Given the description of an element on the screen output the (x, y) to click on. 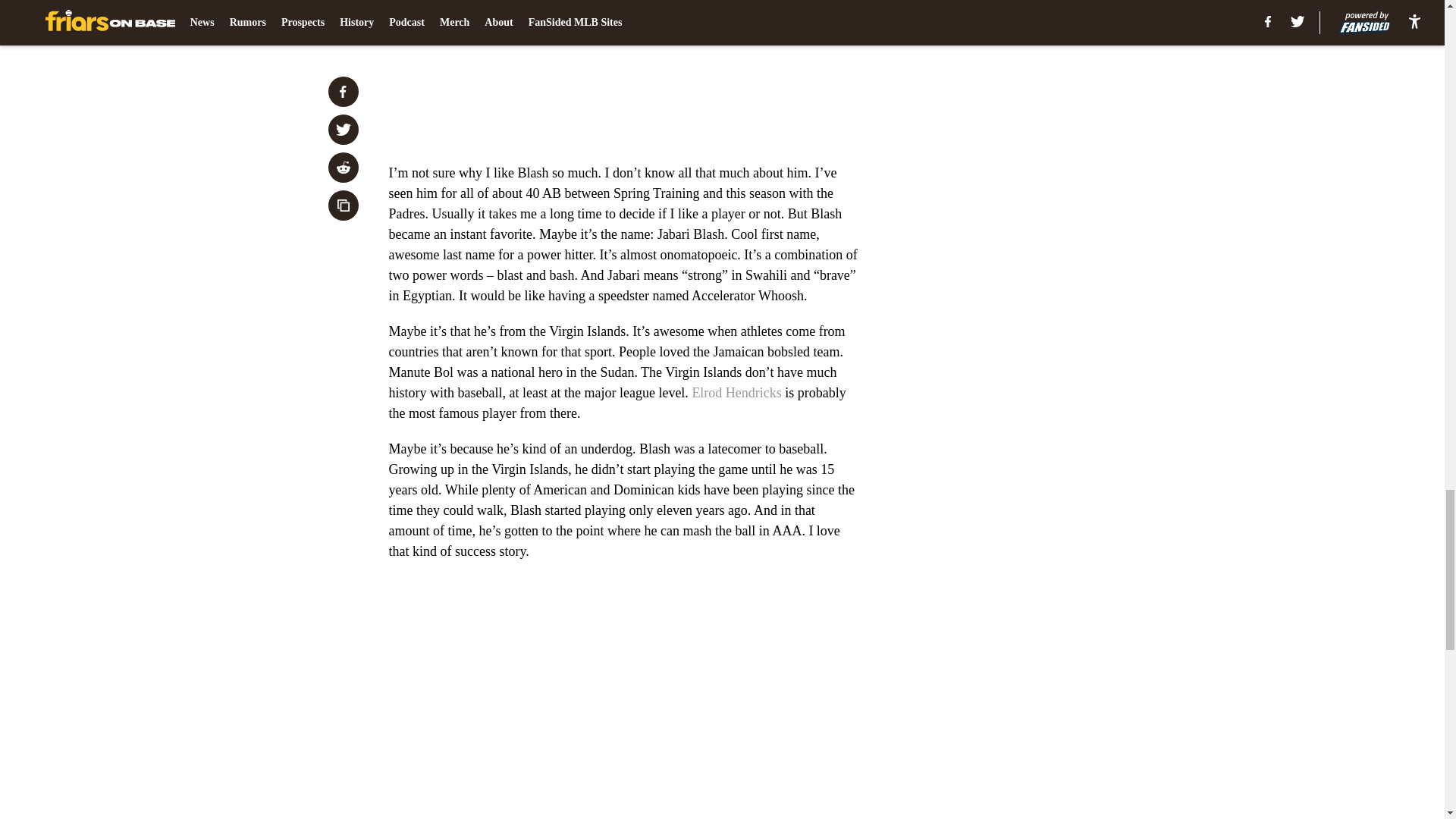
Elrod Hendricks (735, 392)
